Given the description of an element on the screen output the (x, y) to click on. 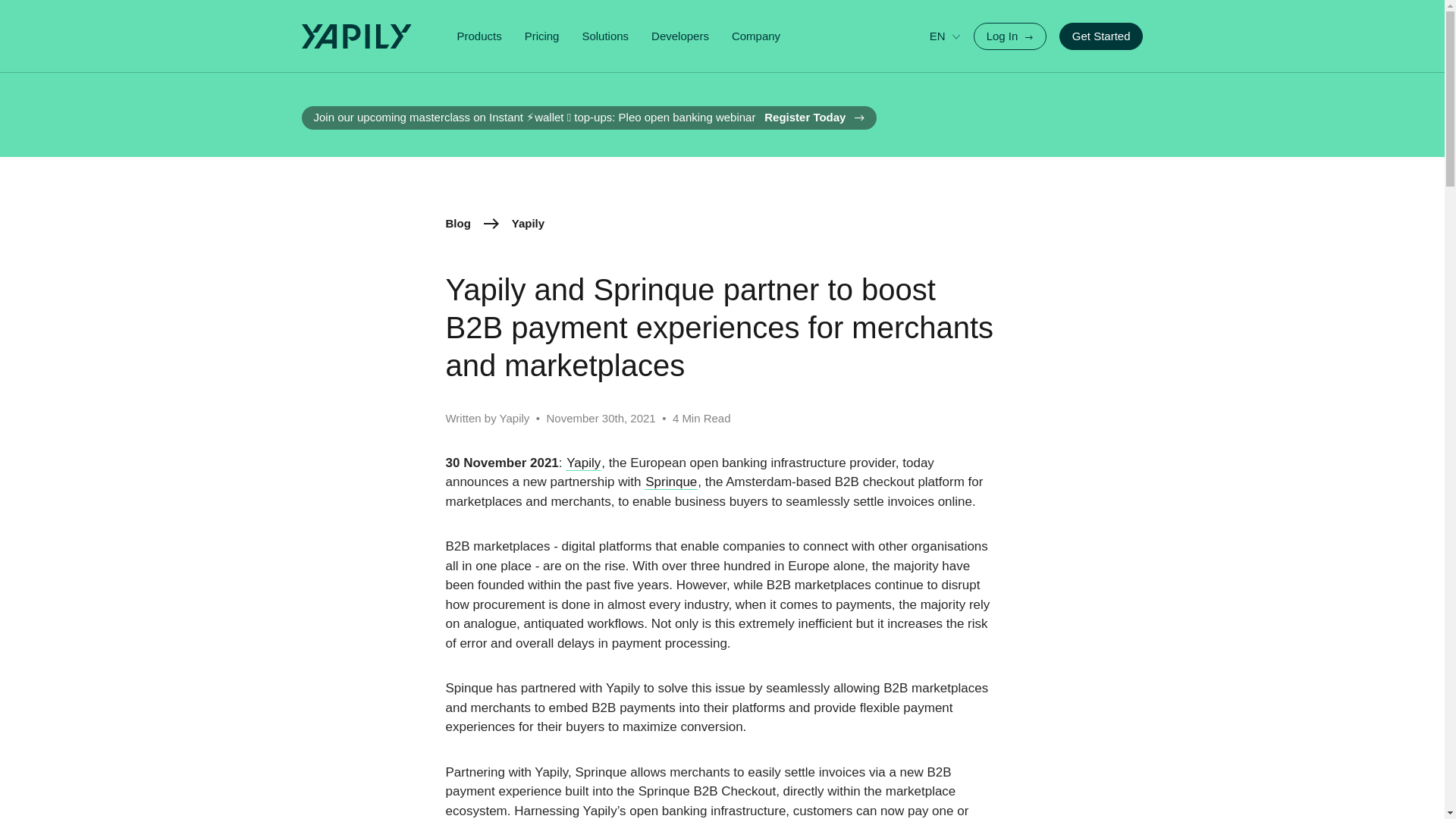
Sprinque B2B marketplace payments (671, 482)
Get Started (1100, 36)
Pricing (541, 36)
Log In (1010, 36)
Yapily (583, 462)
Yapily Logo (362, 36)
Blog (457, 223)
